Given the description of an element on the screen output the (x, y) to click on. 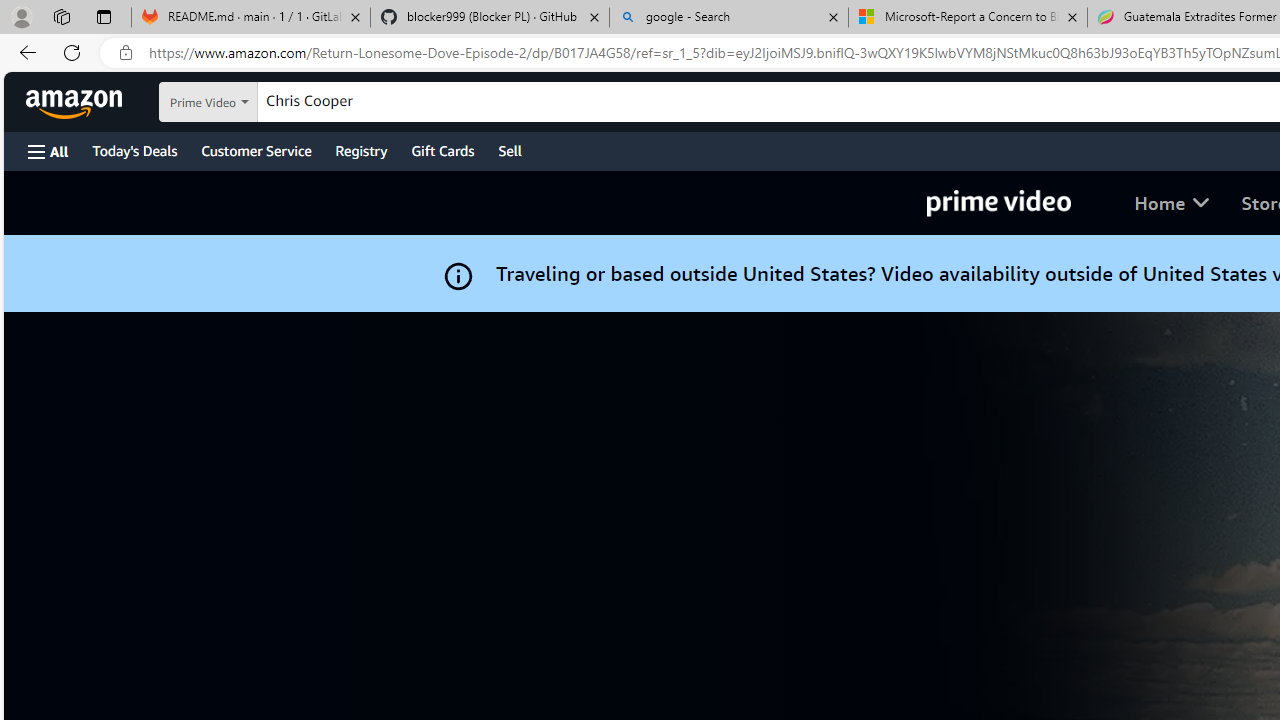
Gift Cards (442, 150)
google - Search (729, 17)
Registry (360, 150)
Amazon (76, 101)
Open Menu (48, 151)
Sell (509, 150)
Prime Video (998, 202)
Prime Video (998, 202)
Skip to main content (86, 100)
